Given the description of an element on the screen output the (x, y) to click on. 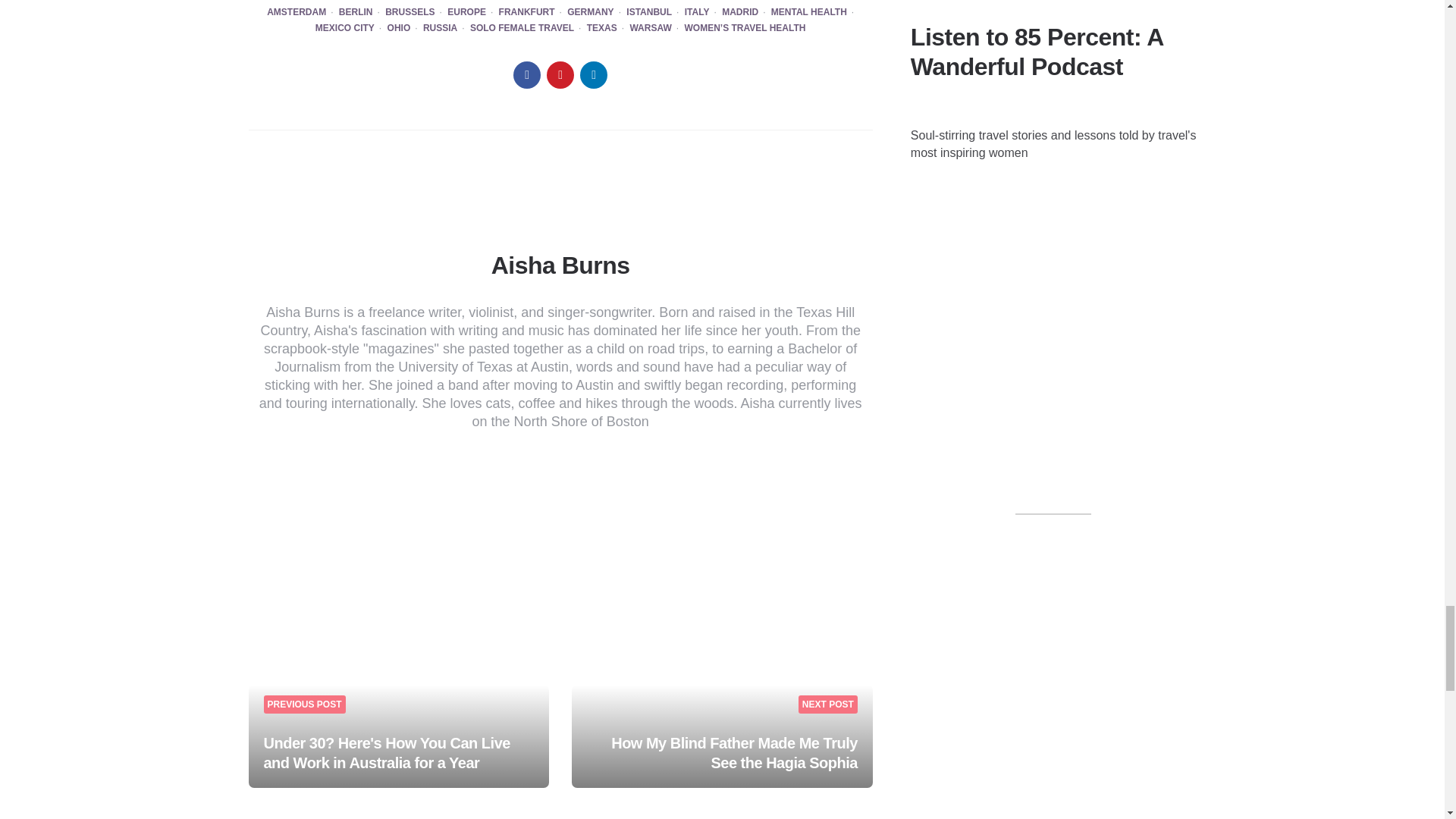
BERLIN (355, 12)
EUROPE (466, 12)
ISTANBUL (648, 12)
ITALY (697, 12)
MENTAL HEALTH (809, 12)
MEXICO CITY (344, 28)
AMSTERDAM (296, 12)
FRANKFURT (526, 12)
MADRID (740, 12)
GERMANY (589, 12)
BRUSSELS (409, 12)
